Given the description of an element on the screen output the (x, y) to click on. 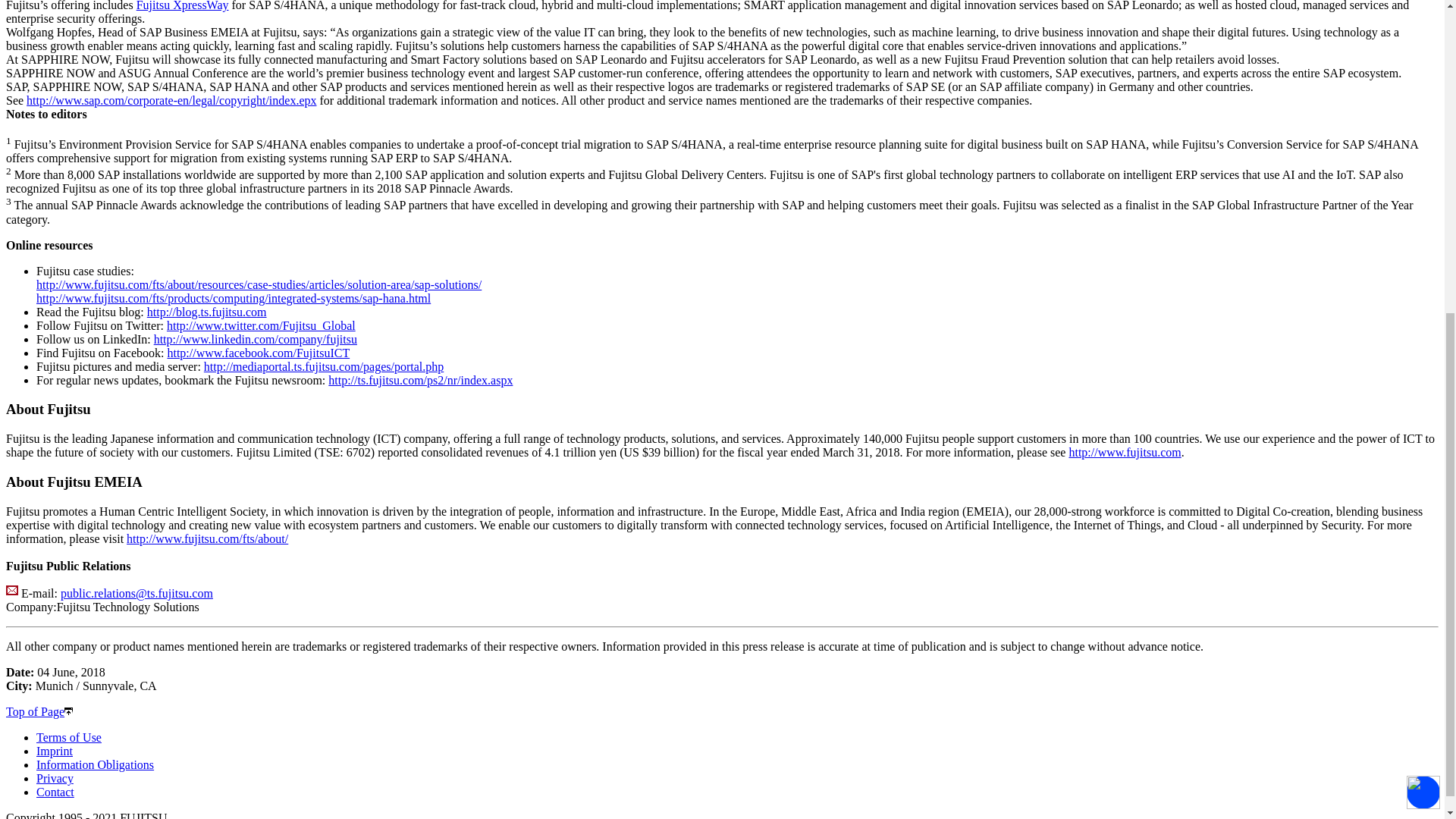
Terms of Use (68, 737)
Information Obligations (95, 764)
Fujitsu XpressWay (182, 5)
Imprint (54, 750)
Top of Page (38, 711)
